Given the description of an element on the screen output the (x, y) to click on. 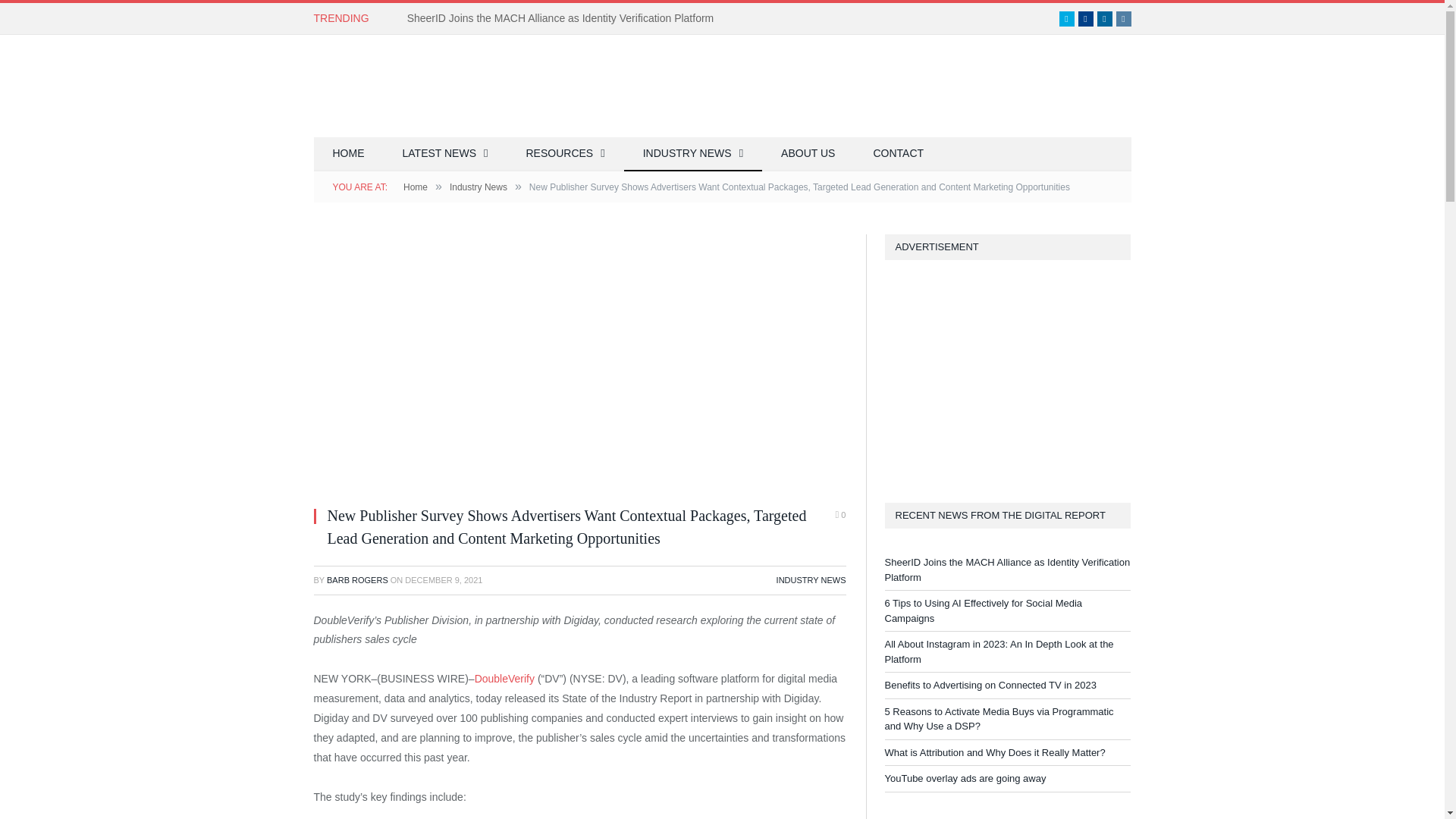
Advertisement (855, 86)
Instagram (1123, 18)
INDUSTRY NEWS (810, 579)
LinkedIn (1104, 18)
BARB ROGERS (357, 579)
Industry News (477, 186)
Facebook (1085, 18)
HOME (349, 154)
Facebook (1085, 18)
